Given the description of an element on the screen output the (x, y) to click on. 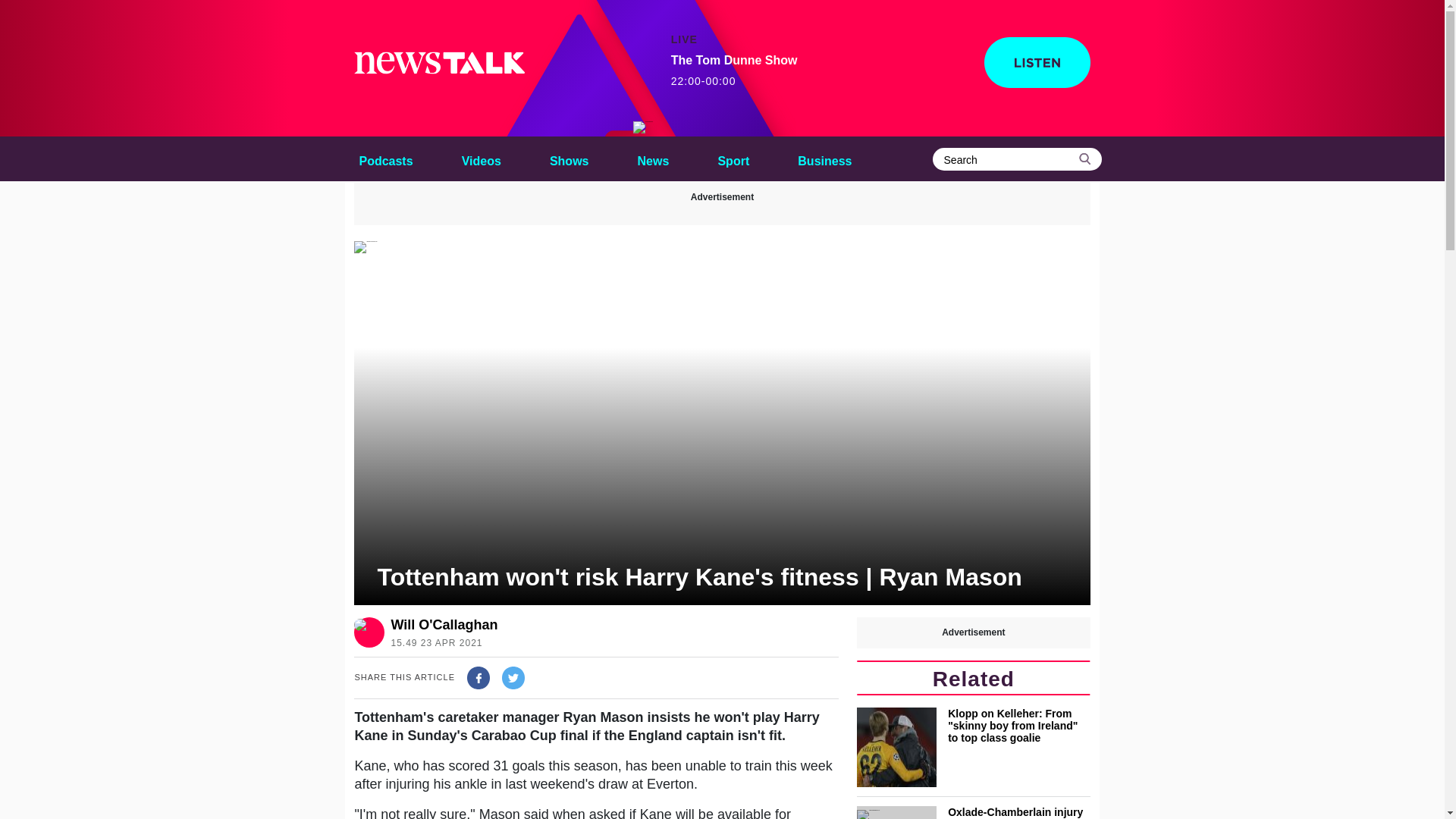
Podcasts (384, 158)
Videos (481, 158)
Sport (733, 158)
The Tom Dunne Show (642, 127)
Business (824, 158)
Sport (733, 158)
Shows (569, 158)
Videos (481, 158)
News (653, 158)
